Given the description of an element on the screen output the (x, y) to click on. 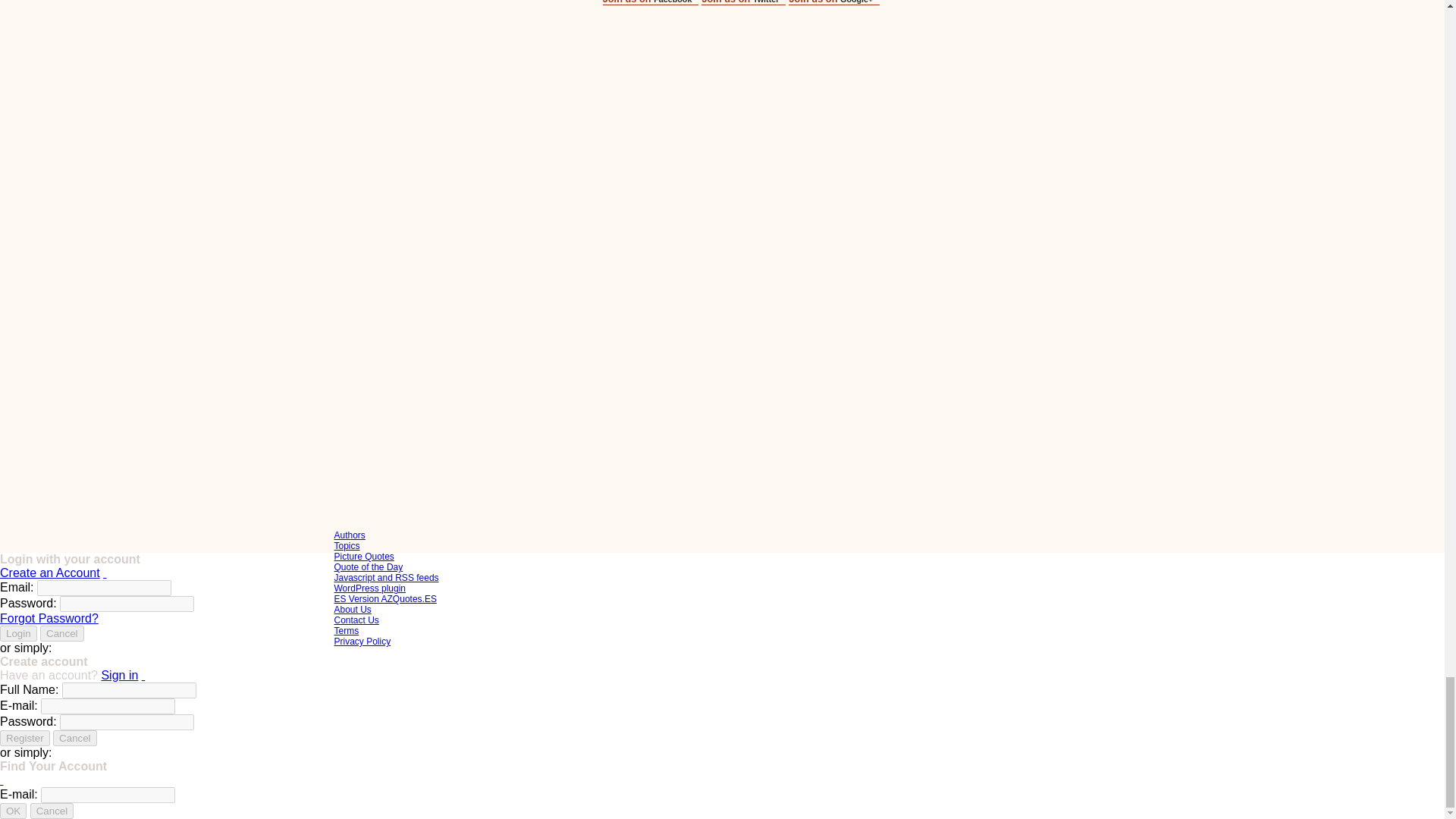
Login (18, 633)
Register (24, 738)
Cancel (62, 633)
Cancel (74, 738)
